Given the description of an element on the screen output the (x, y) to click on. 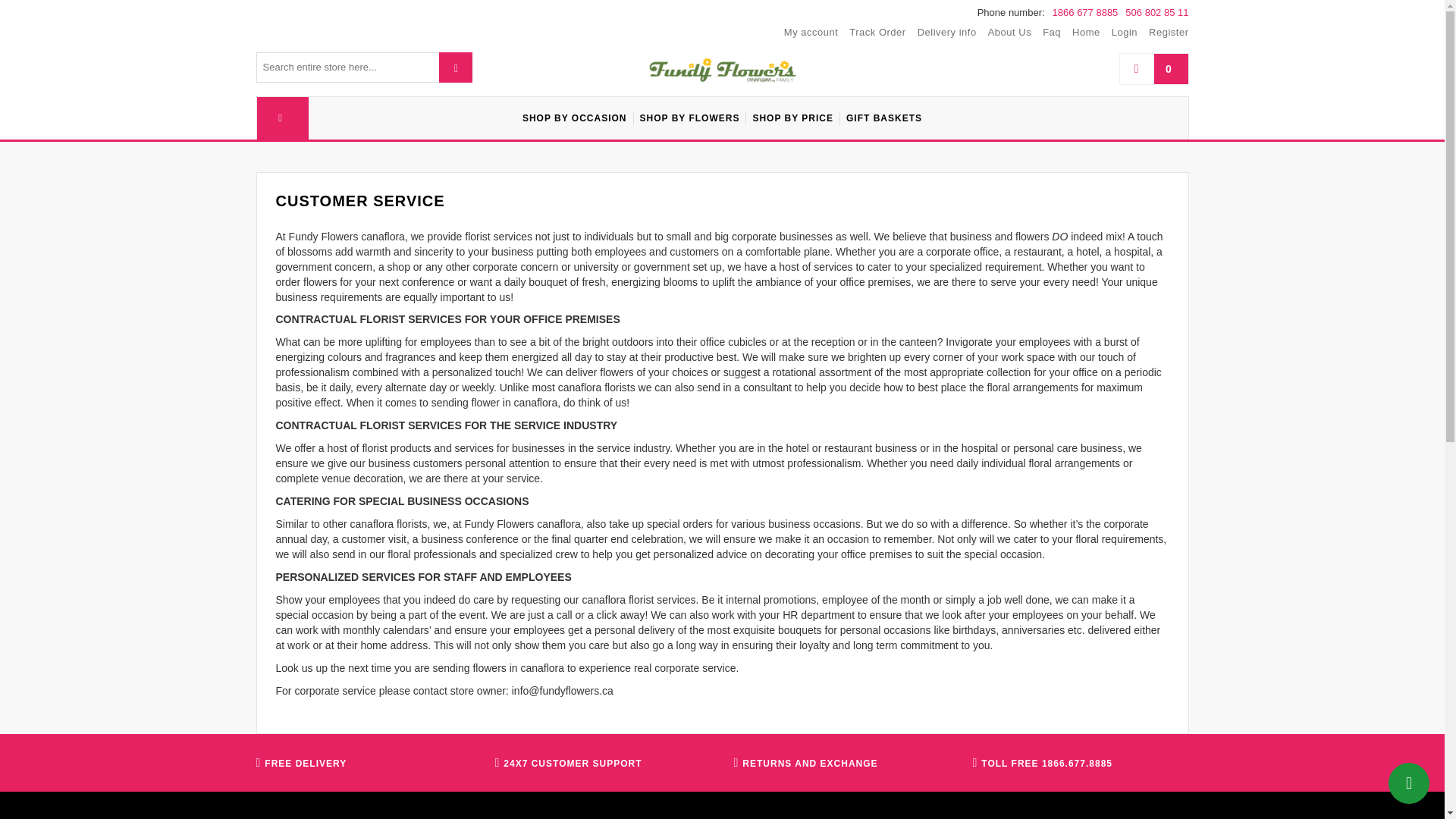
0 (1153, 69)
My account (811, 33)
Home (1085, 33)
Track Order (876, 33)
SHOP BY OCCASION (574, 118)
Register (1168, 33)
Fundy Flowers (721, 71)
Delivery info (946, 33)
SHOP BY PRICE (792, 118)
Login (1124, 33)
1866 677 8885 (1085, 12)
About Us (1009, 33)
Faq (1051, 33)
506 802 85 11 (1156, 12)
